Given the description of an element on the screen output the (x, y) to click on. 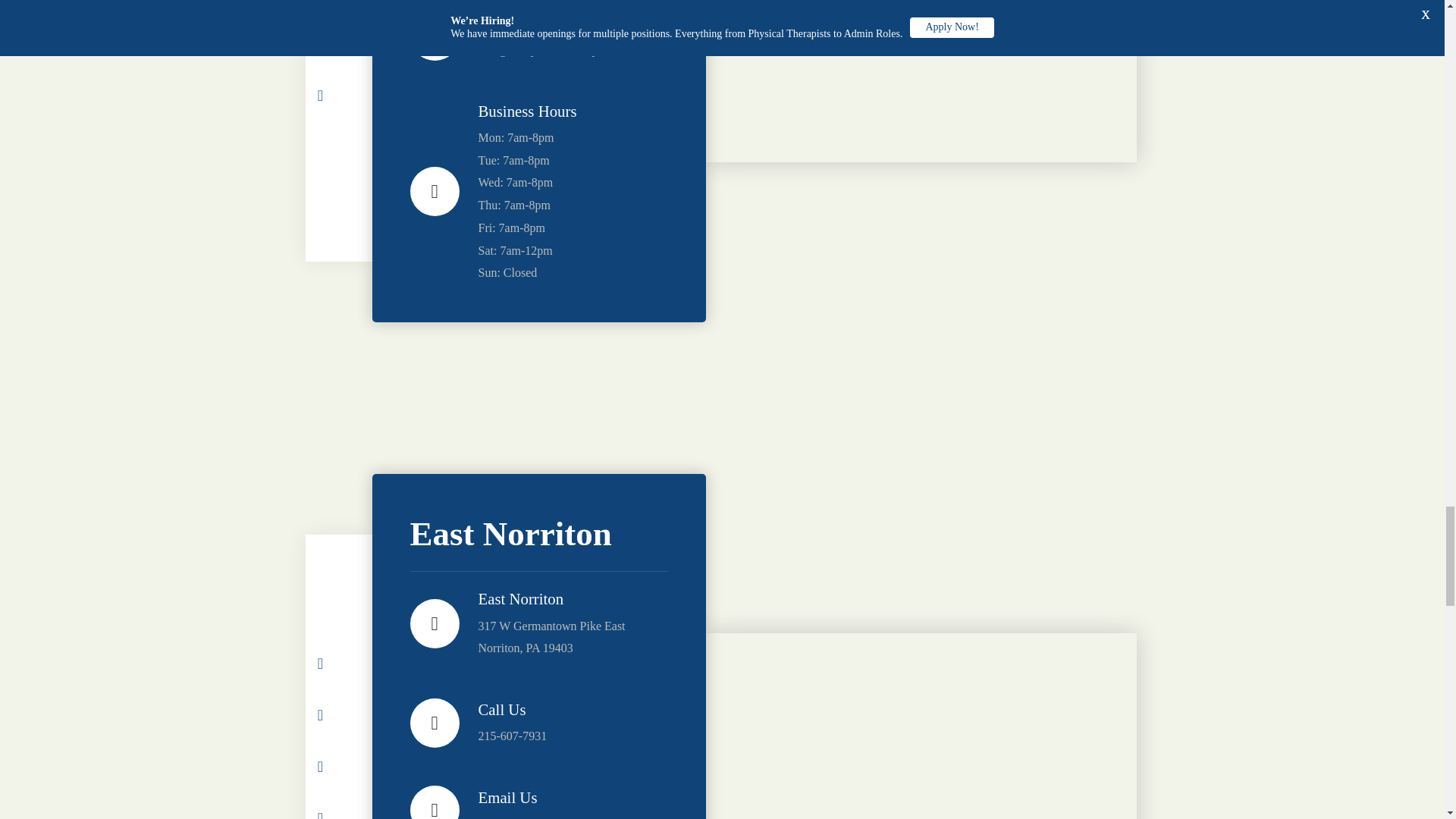
317 W Germantown Pike East Norriton, PA 19403 (919, 726)
